Given the description of an element on the screen output the (x, y) to click on. 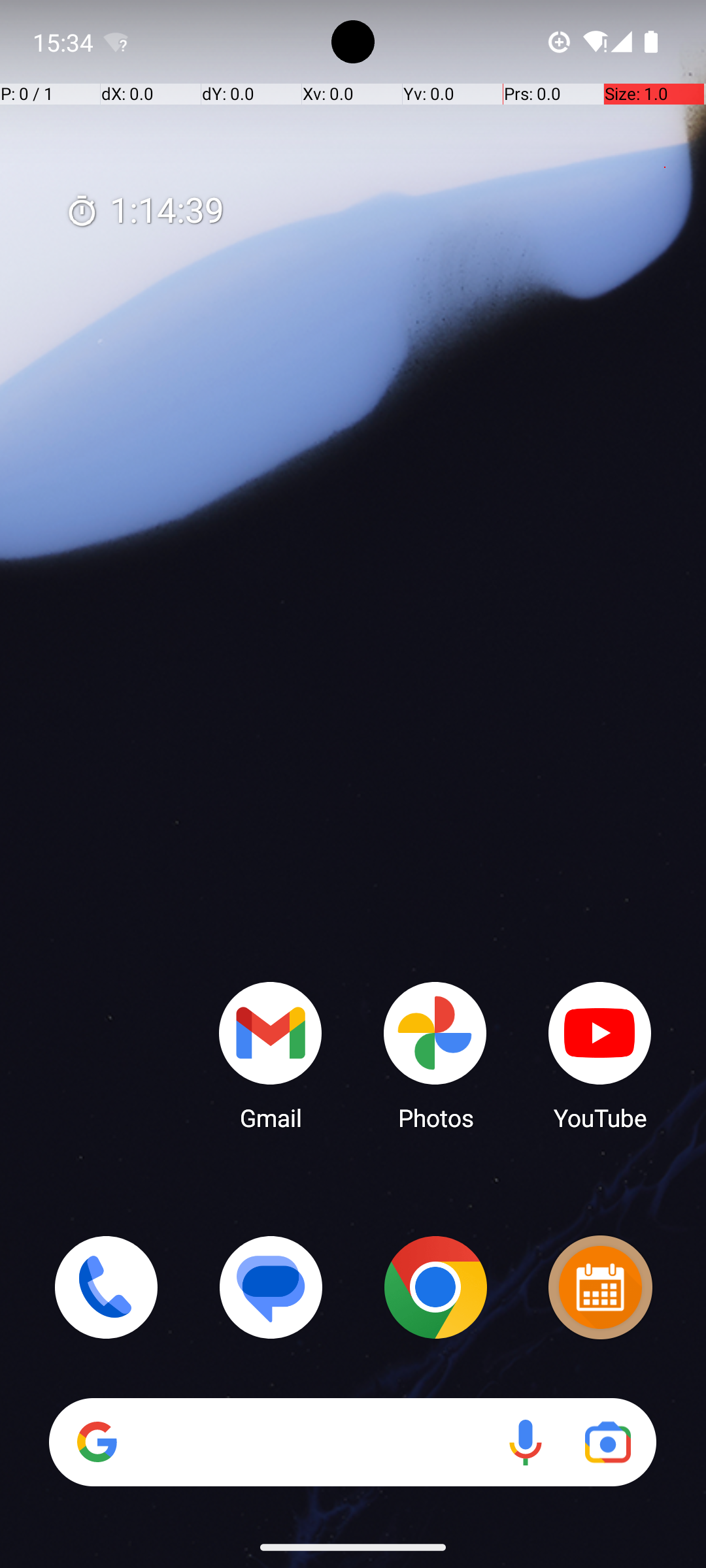
1:14:39 Element type: android.widget.TextView (144, 210)
